Given the description of an element on the screen output the (x, y) to click on. 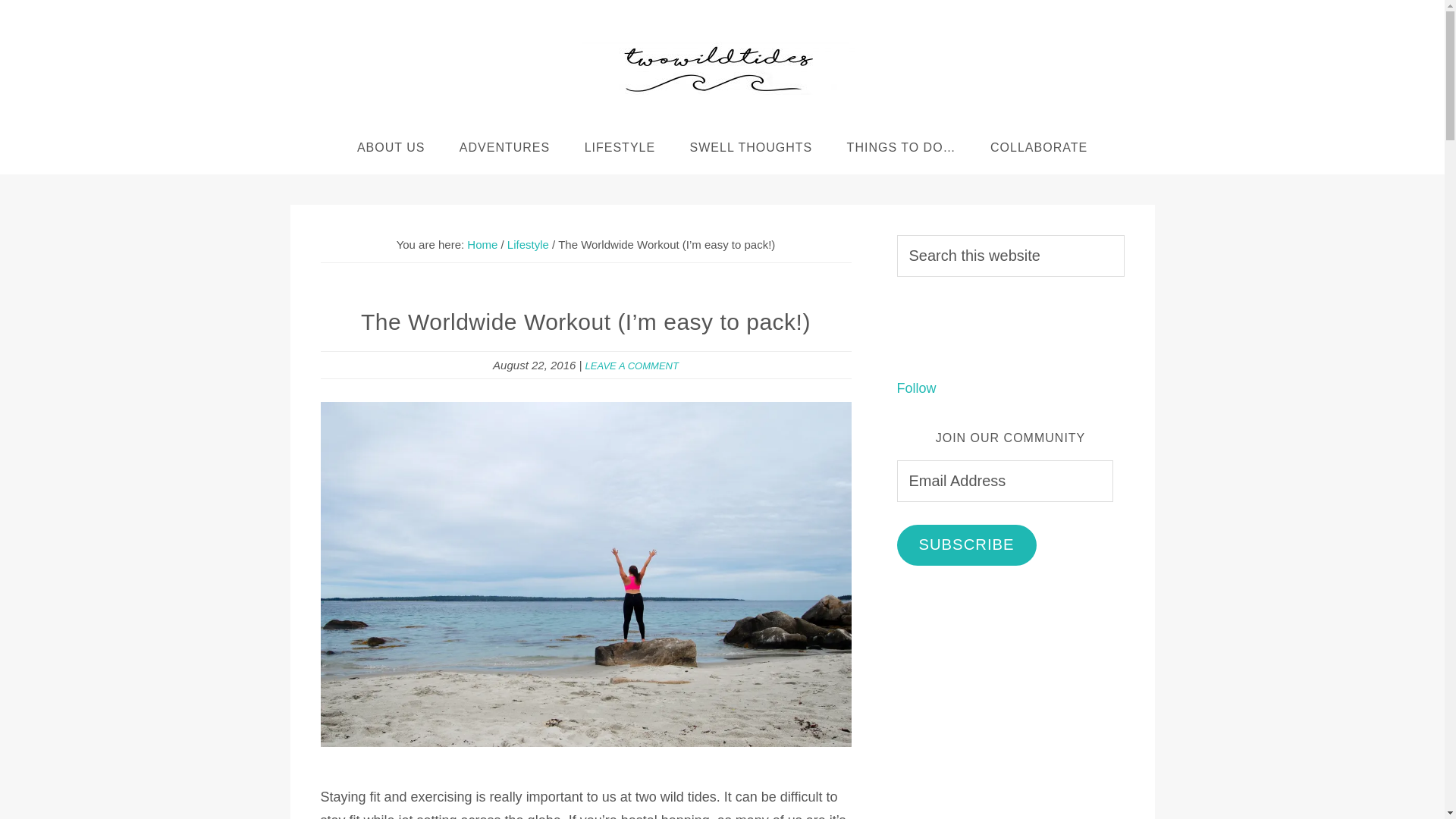
SWELL THOUGHTS (751, 147)
ABOUT US (391, 147)
COLLABORATE (1038, 147)
LEAVE A COMMENT (631, 365)
ADVENTURES (504, 147)
TWO WILD TIDES (719, 68)
Lifestyle (527, 244)
LIFESTYLE (619, 147)
